Given the description of an element on the screen output the (x, y) to click on. 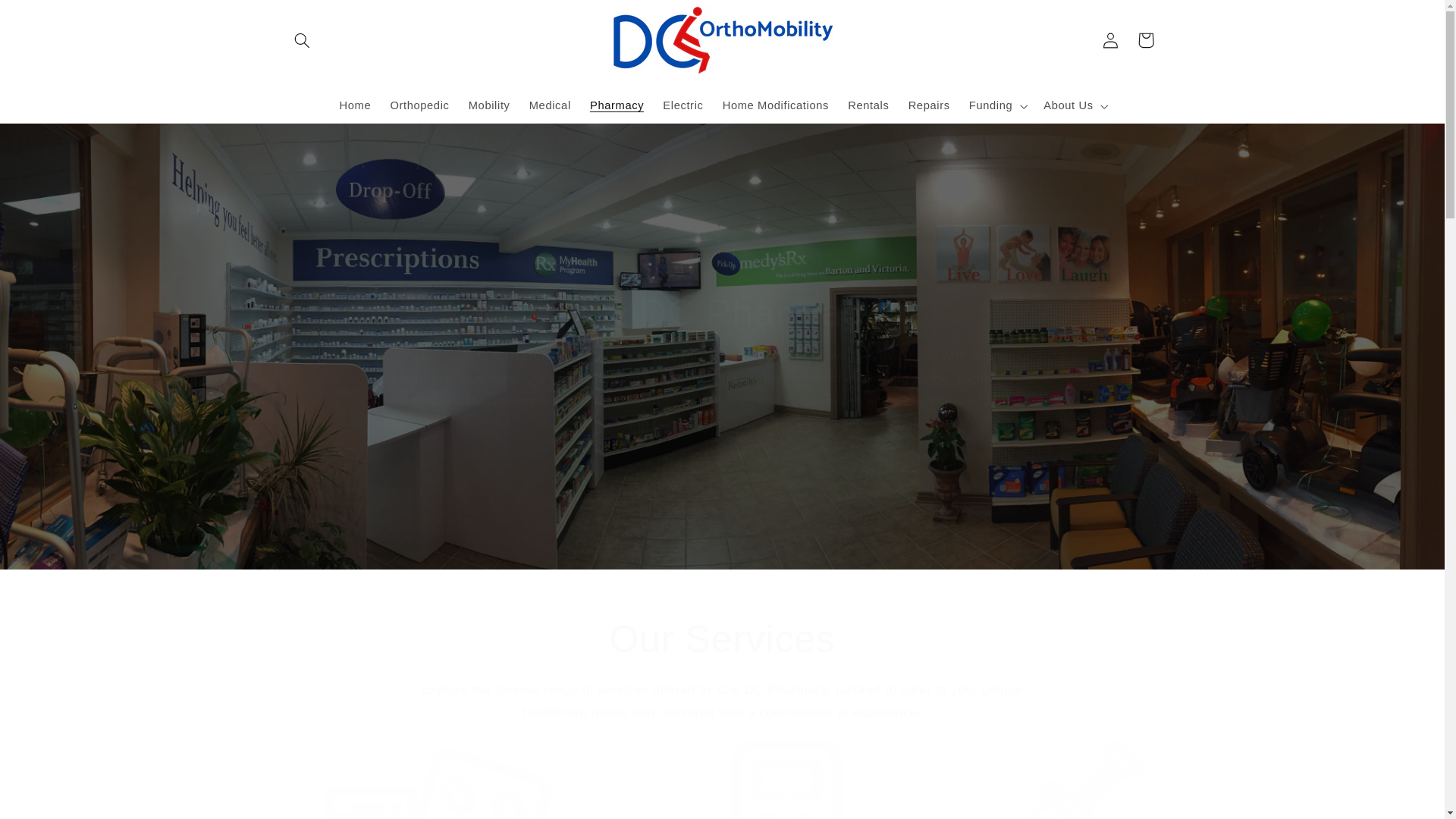
Home Modifications (775, 105)
Orthopedic (419, 105)
Medical (549, 105)
Mobility (488, 105)
Pharmacy (615, 105)
Repairs (928, 105)
Home (355, 105)
Skip to content (48, 18)
Rentals (868, 105)
Electric (683, 105)
Our Services (722, 639)
